Given the description of an element on the screen output the (x, y) to click on. 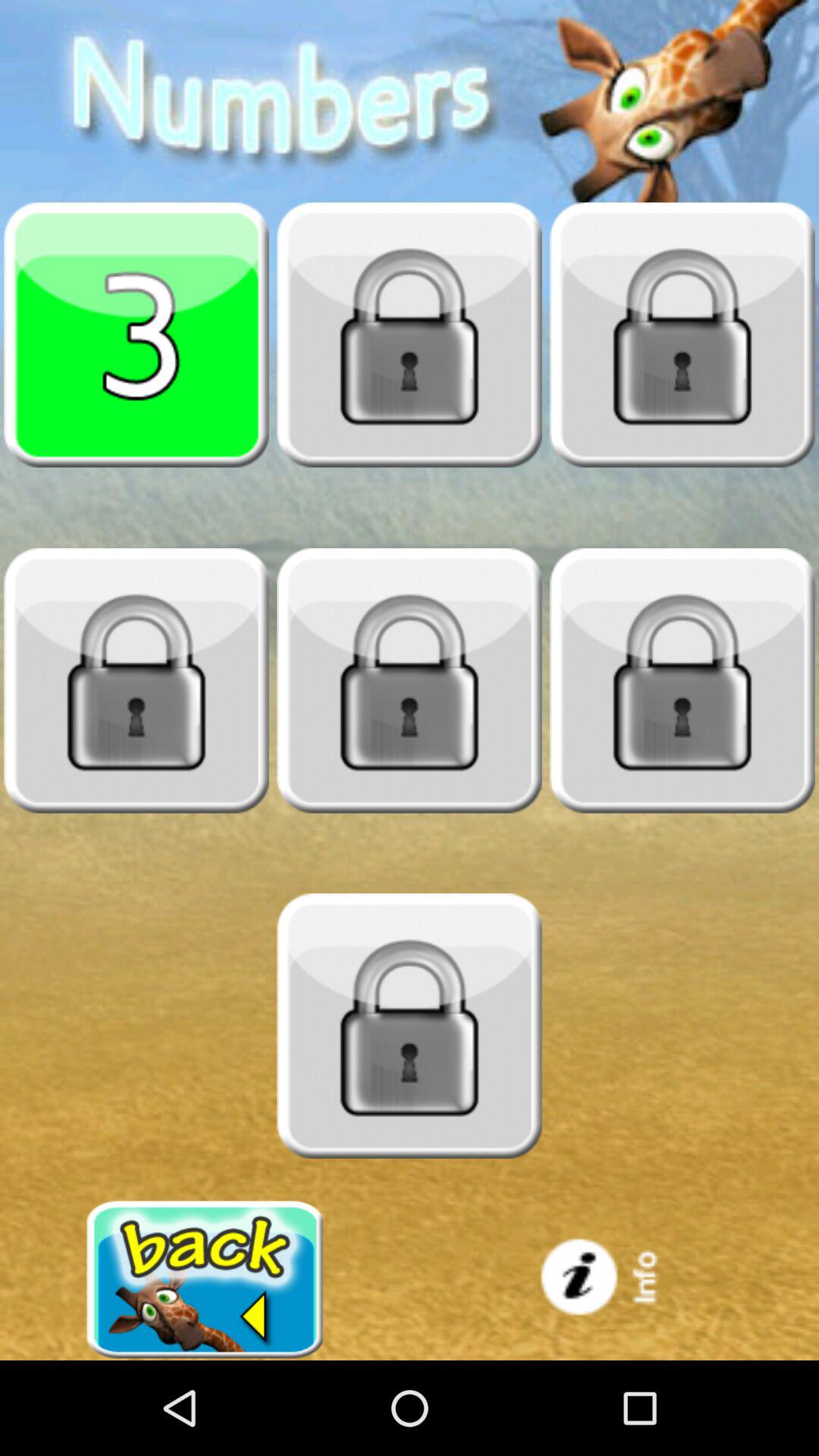
unlock level (682, 680)
